Given the description of an element on the screen output the (x, y) to click on. 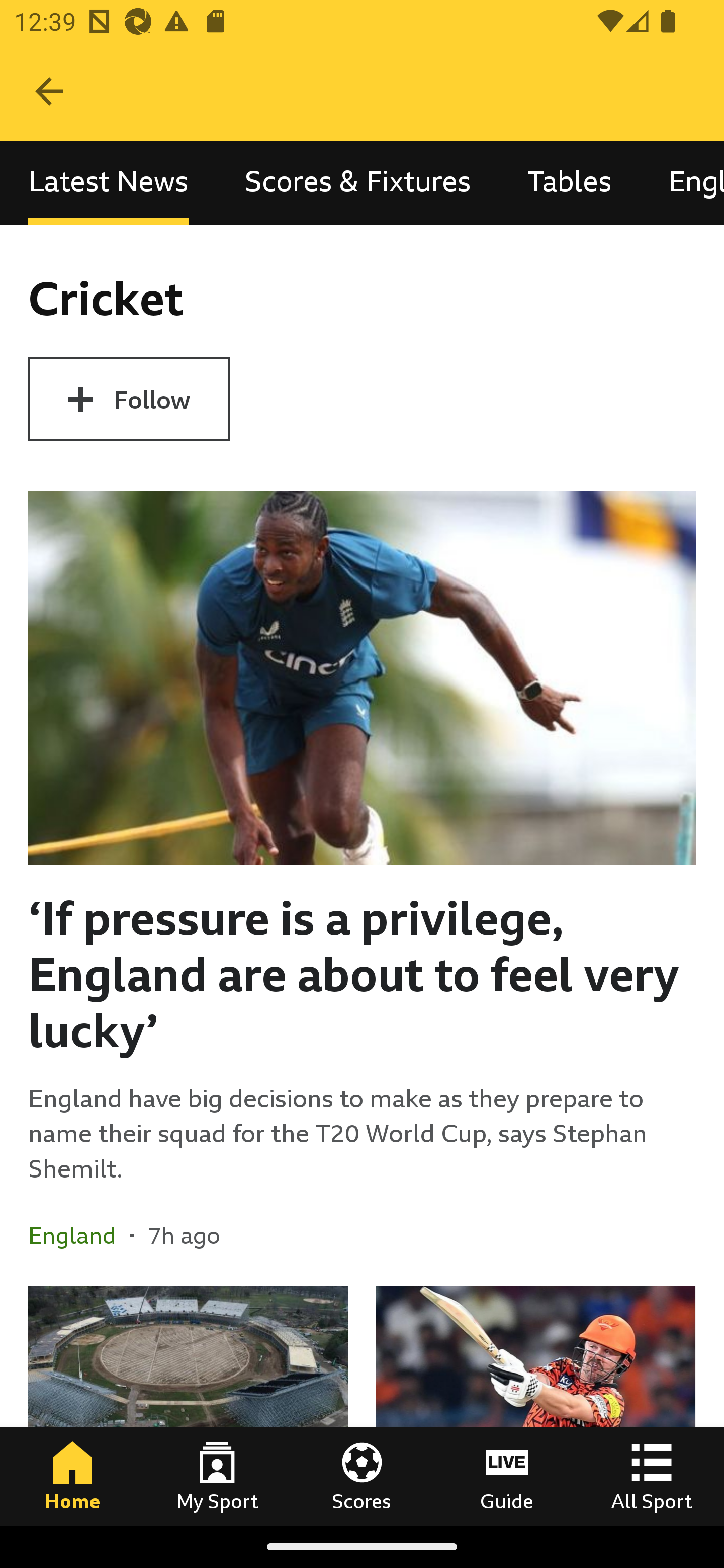
Navigate up (49, 91)
Latest News, selected Latest News (108, 183)
Scores & Fixtures (357, 183)
Tables (569, 183)
Follow Cricket Follow (129, 398)
England In the section England (79, 1234)
The batting blitz turning cricket into baseball (535, 1405)
My Sport (216, 1475)
Scores (361, 1475)
Guide (506, 1475)
All Sport (651, 1475)
